Given the description of an element on the screen output the (x, y) to click on. 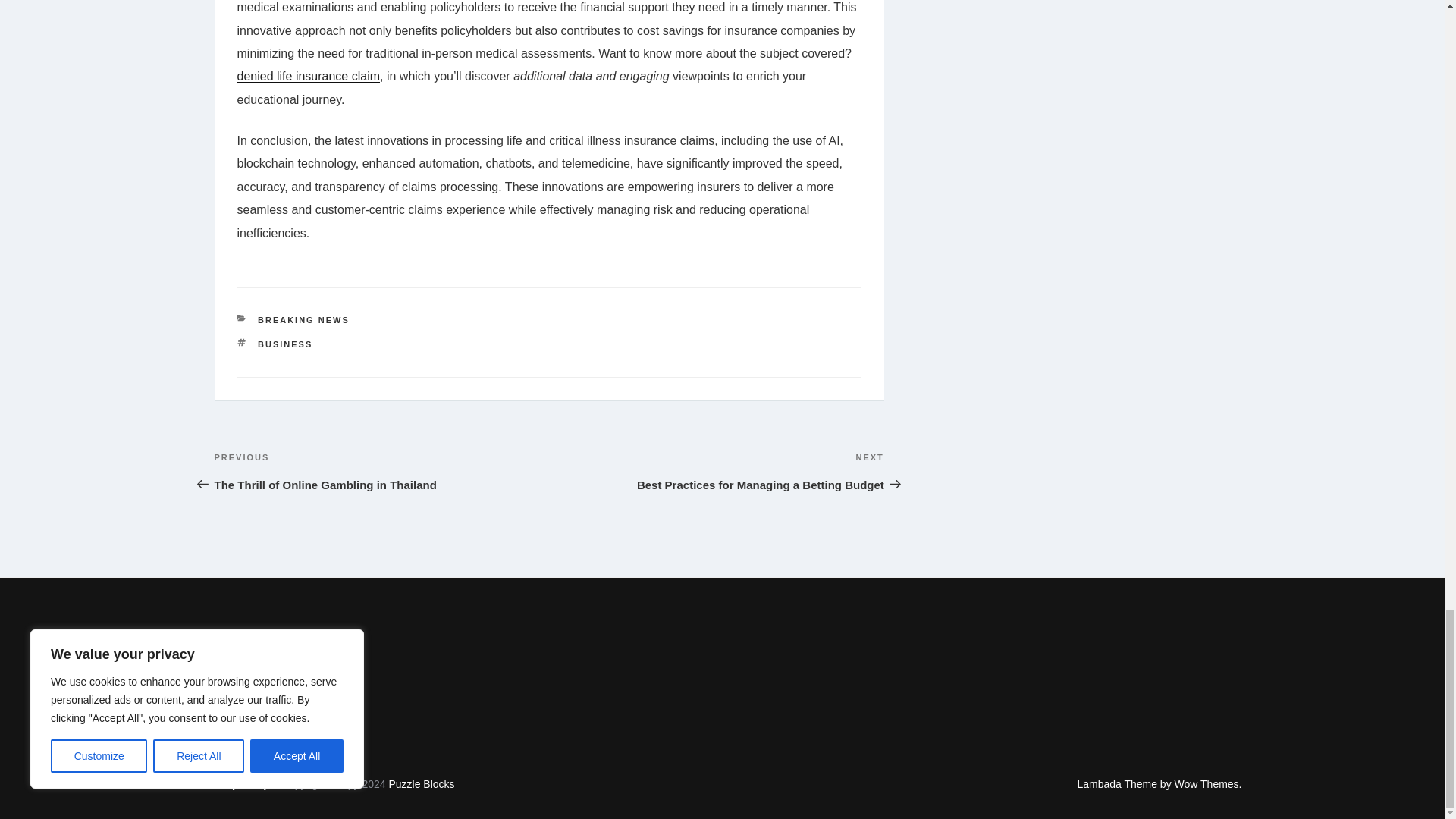
BREAKING NEWS (303, 319)
BUSINESS (715, 470)
denied life insurance claim (285, 343)
